Given the description of an element on the screen output the (x, y) to click on. 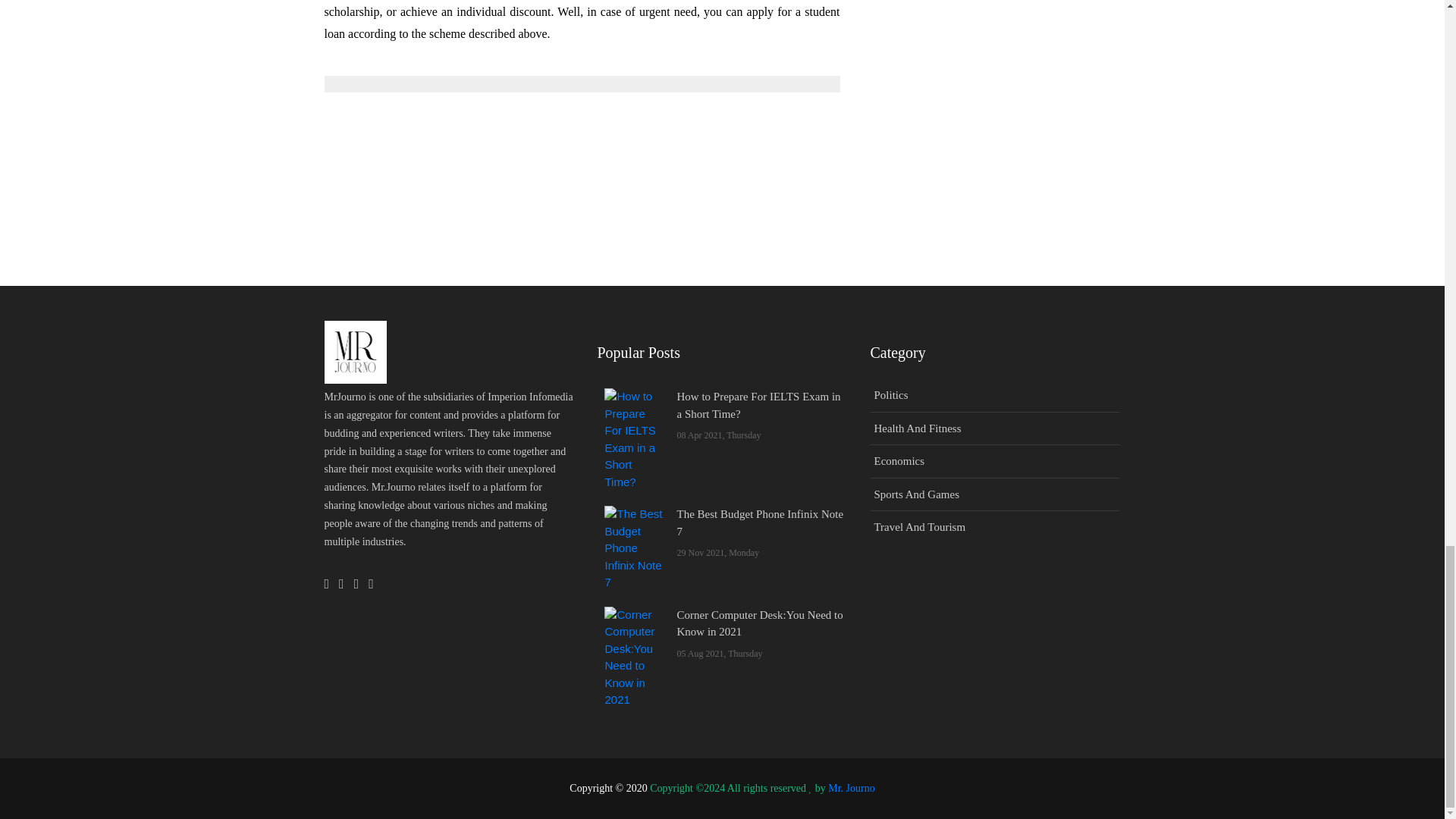
The Best Budget Phone Infinix Note 7  (634, 548)
How to Prepare For IELTS Exam in a Short Time? (634, 439)
Corner Computer Desk:You Need to Know in 2021 (634, 657)
